Given the description of an element on the screen output the (x, y) to click on. 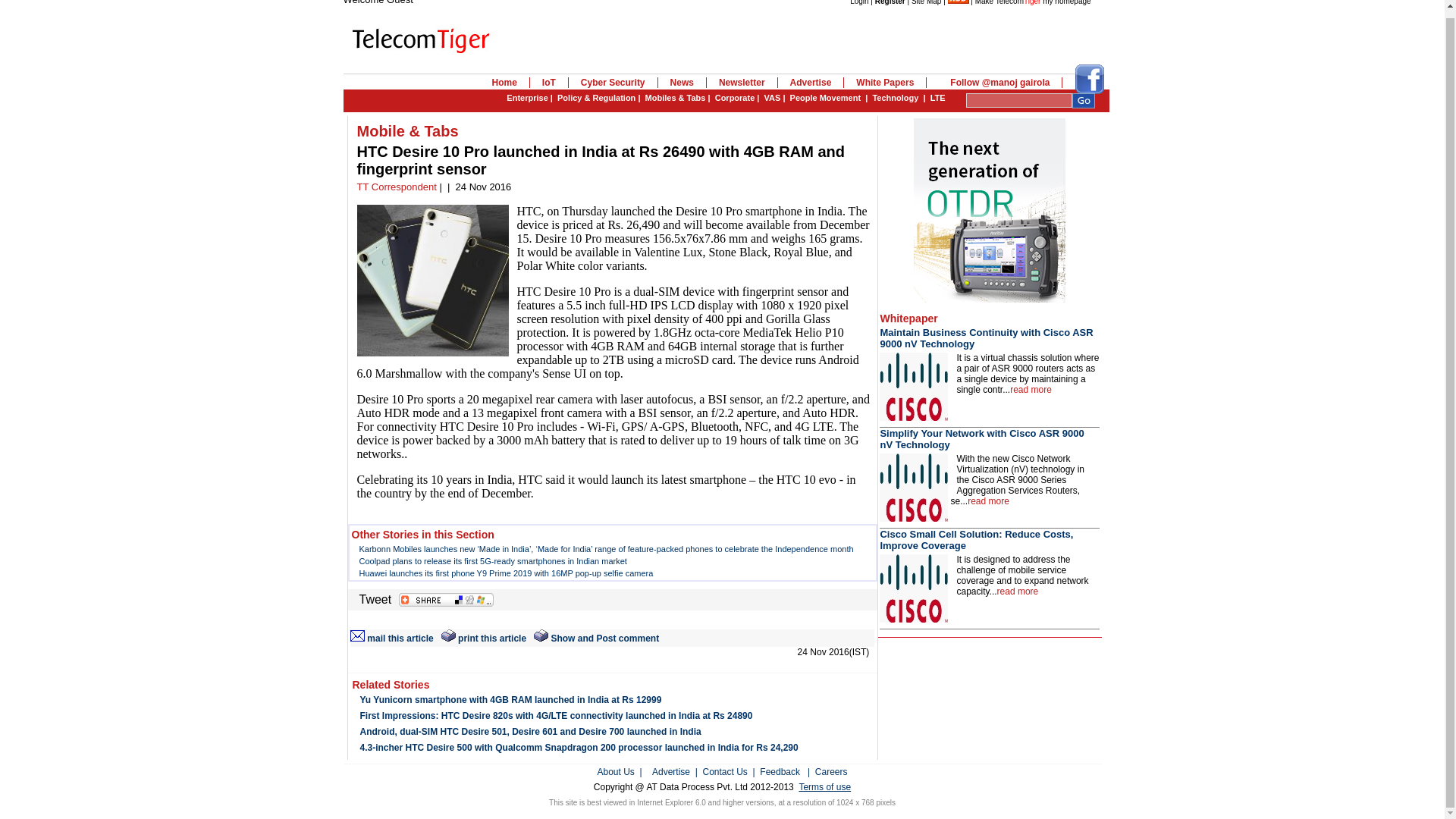
IoT (549, 81)
Advertise (810, 81)
Make TelecomTiger my homepage (1032, 2)
Tweet (375, 599)
 mail this article (391, 638)
Register (890, 2)
White Papers (885, 81)
Corporate (734, 97)
